Given the description of an element on the screen output the (x, y) to click on. 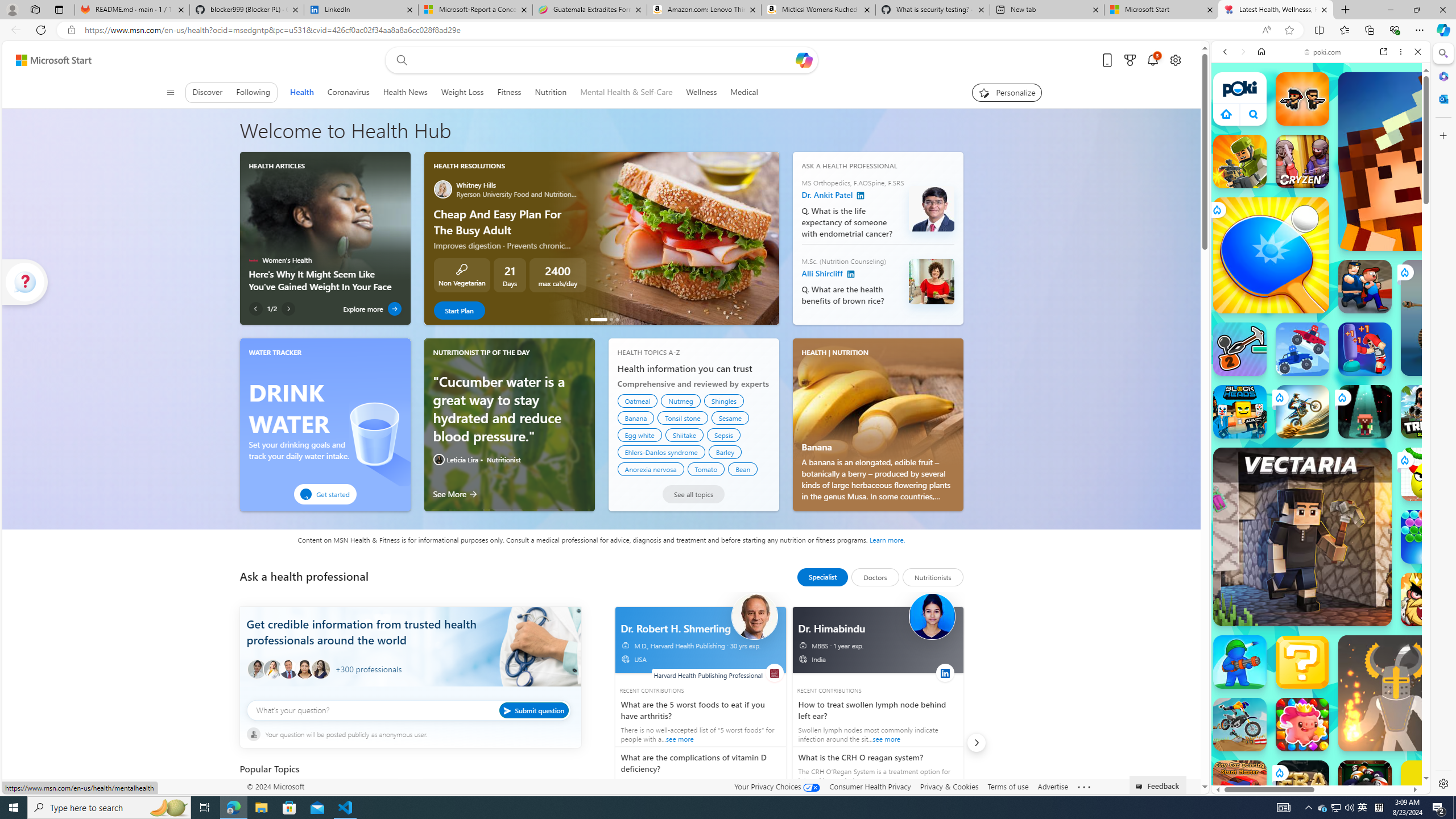
Crazy Bikes Crazy Bikes (1239, 724)
Match Arena (1302, 724)
Mental Health & Self-Care (626, 92)
Tomato (706, 468)
Bubble Shooter Bubble Shooter (1427, 536)
Next Article (288, 308)
Poki - Free Online Games - Play Now! (1315, 175)
Show More Two Player Games (1390, 323)
Crazy Cars (1419, 574)
Pictorial representation of Stroke Stroke Condition (319, 797)
